Given the description of an element on the screen output the (x, y) to click on. 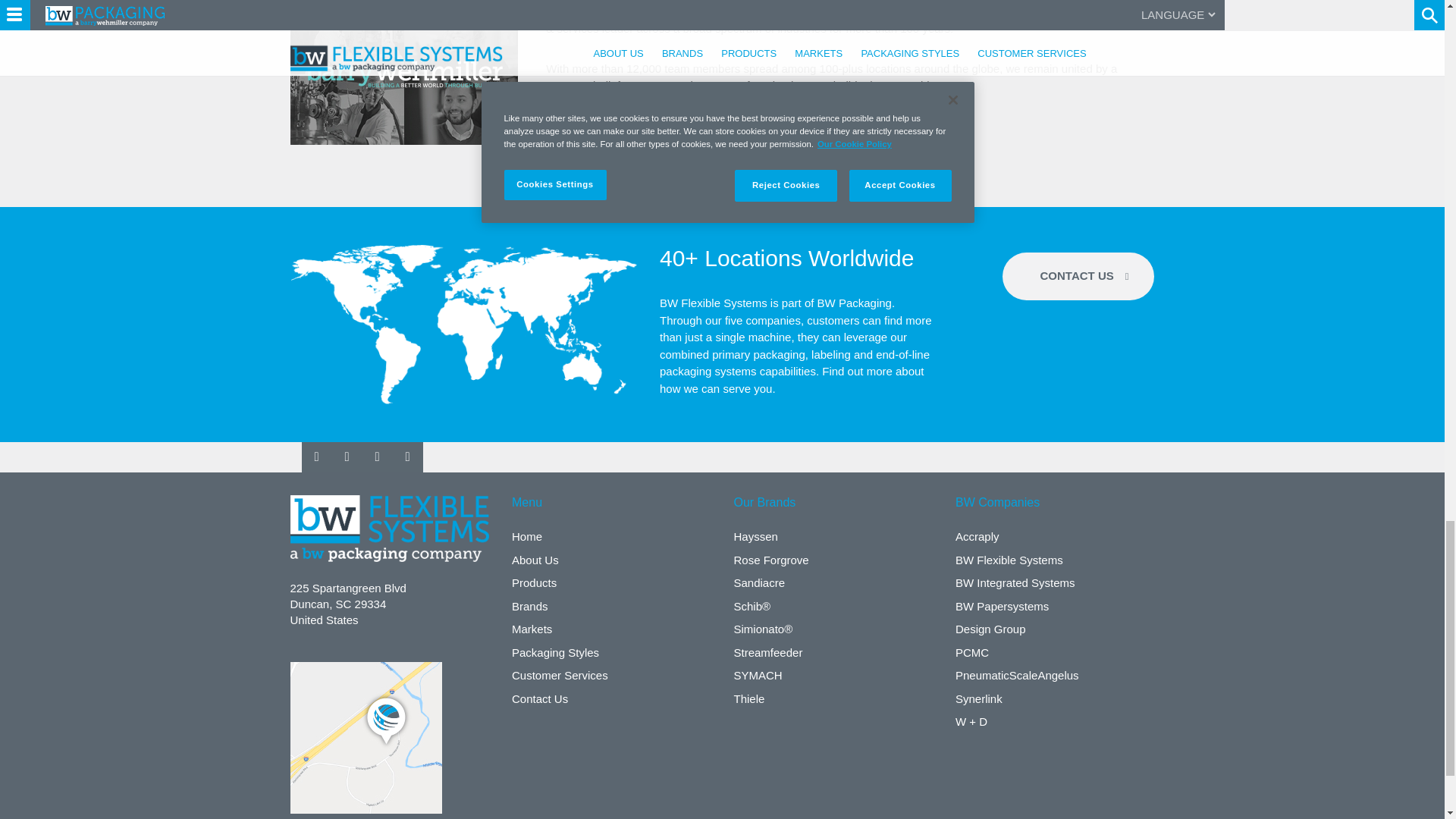
Click for map (365, 737)
customer-service-helpdesk (463, 324)
barry-wehmiller-company (402, 74)
